Given the description of an element on the screen output the (x, y) to click on. 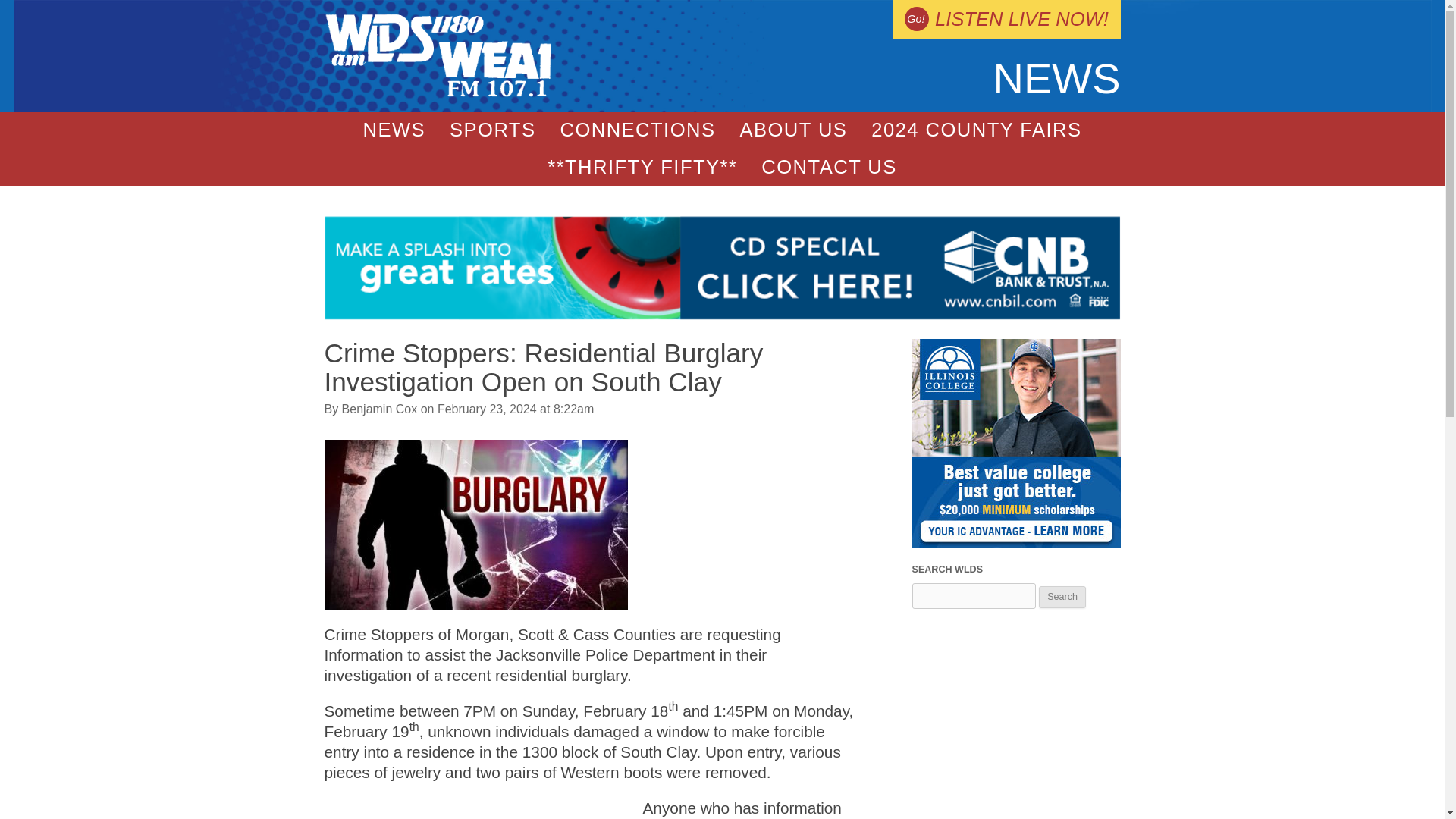
Search (1062, 597)
CONTACT US (828, 167)
Search (1062, 597)
LISTEN LIVE NOW! (1006, 19)
WLDS (437, 92)
2024 COUNTY FAIRS (976, 130)
